Given the description of an element on the screen output the (x, y) to click on. 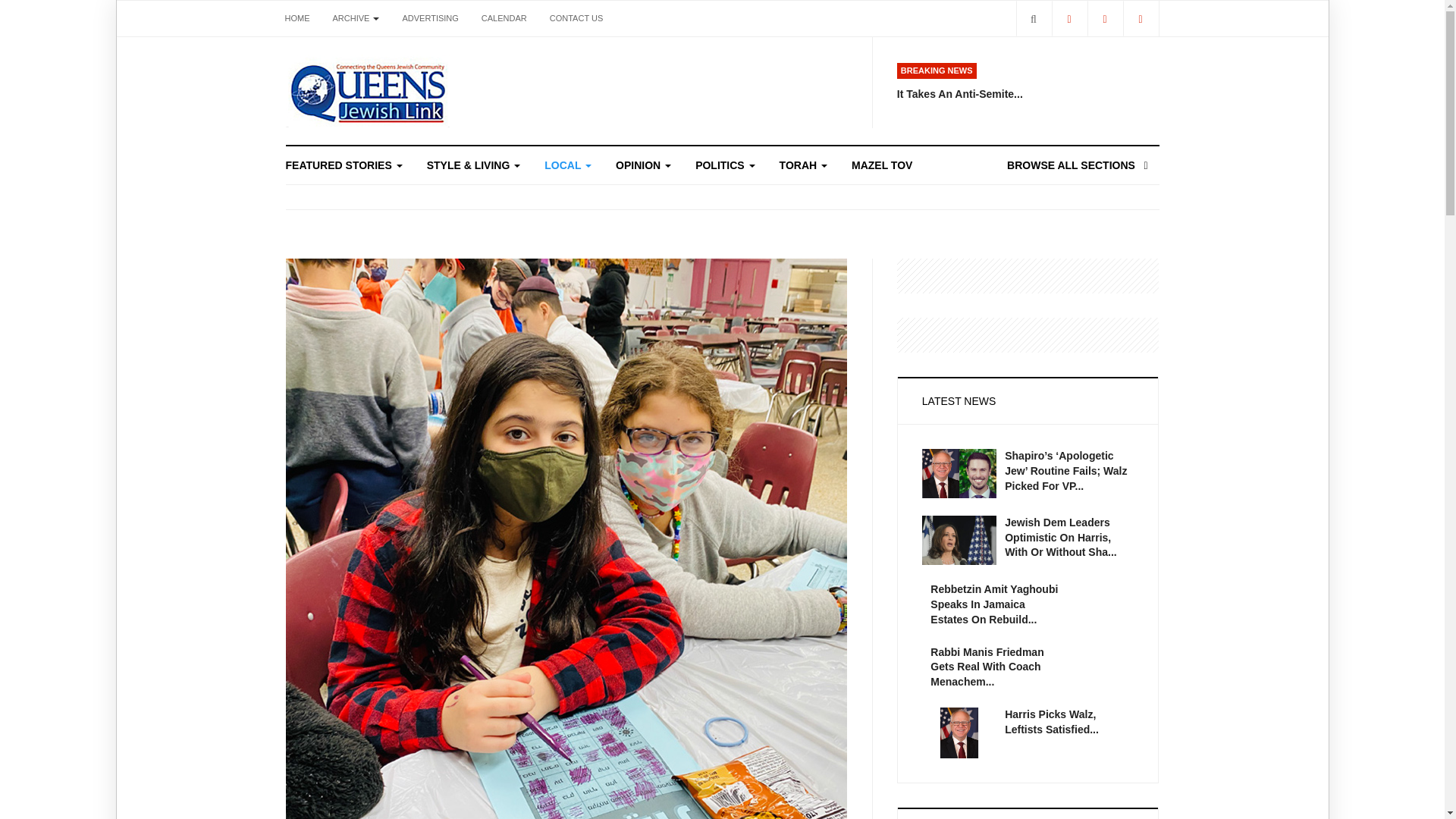
ARCHIVE (356, 18)
Twitter (1104, 18)
HOME (296, 18)
Queens Jewish Link (366, 90)
Instagram (1139, 18)
Facebook (1068, 18)
ADVERTISING (429, 18)
